Given the description of an element on the screen output the (x, y) to click on. 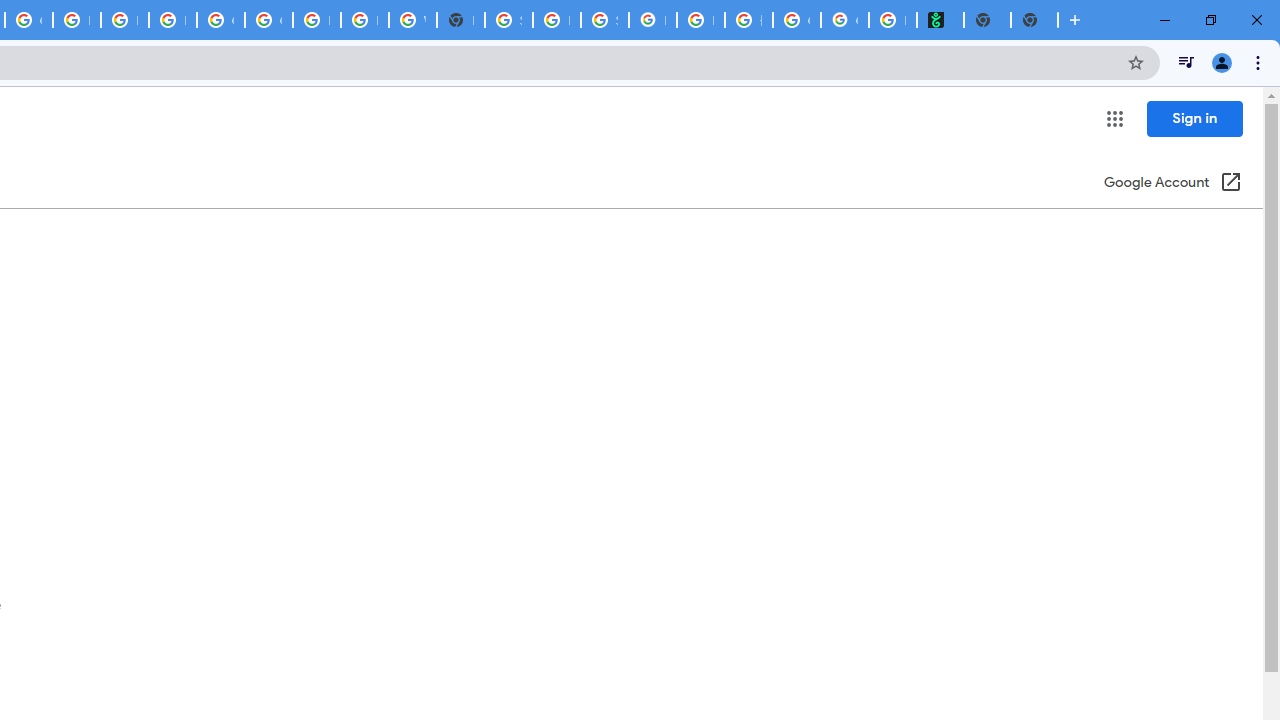
Browse Chrome as a guest - Computer - Google Chrome Help (76, 20)
Browse Chrome as a guest - Computer - Google Chrome Help (124, 20)
New Tab (1034, 20)
Control your music, videos, and more (1185, 62)
Google Account (Open in a new window) (1172, 183)
Browse Chrome as a guest - Computer - Google Chrome Help (364, 20)
